Given the description of an element on the screen output the (x, y) to click on. 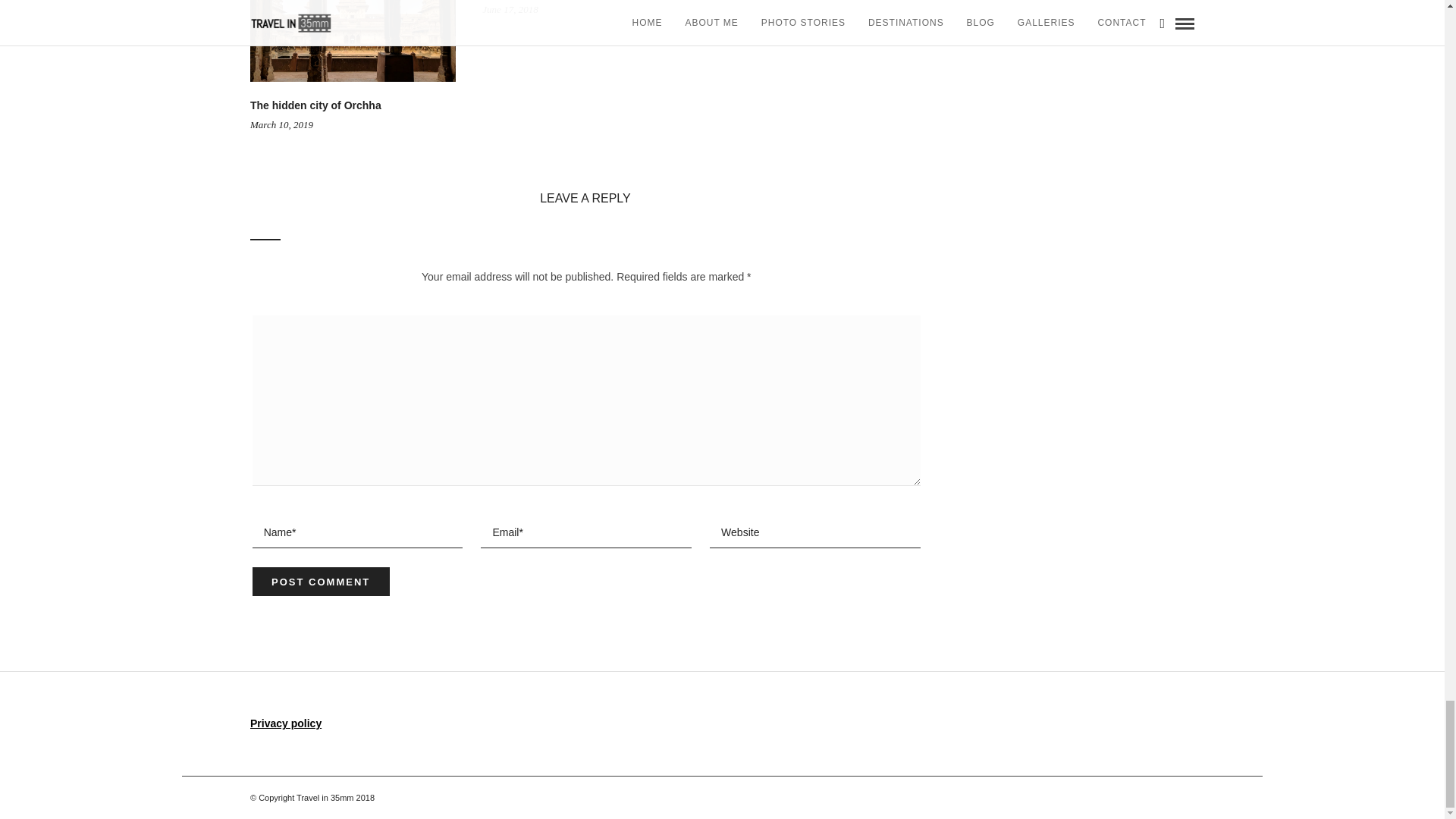
The hidden city of Orchha (315, 105)
Post Comment (320, 581)
